Given the description of an element on the screen output the (x, y) to click on. 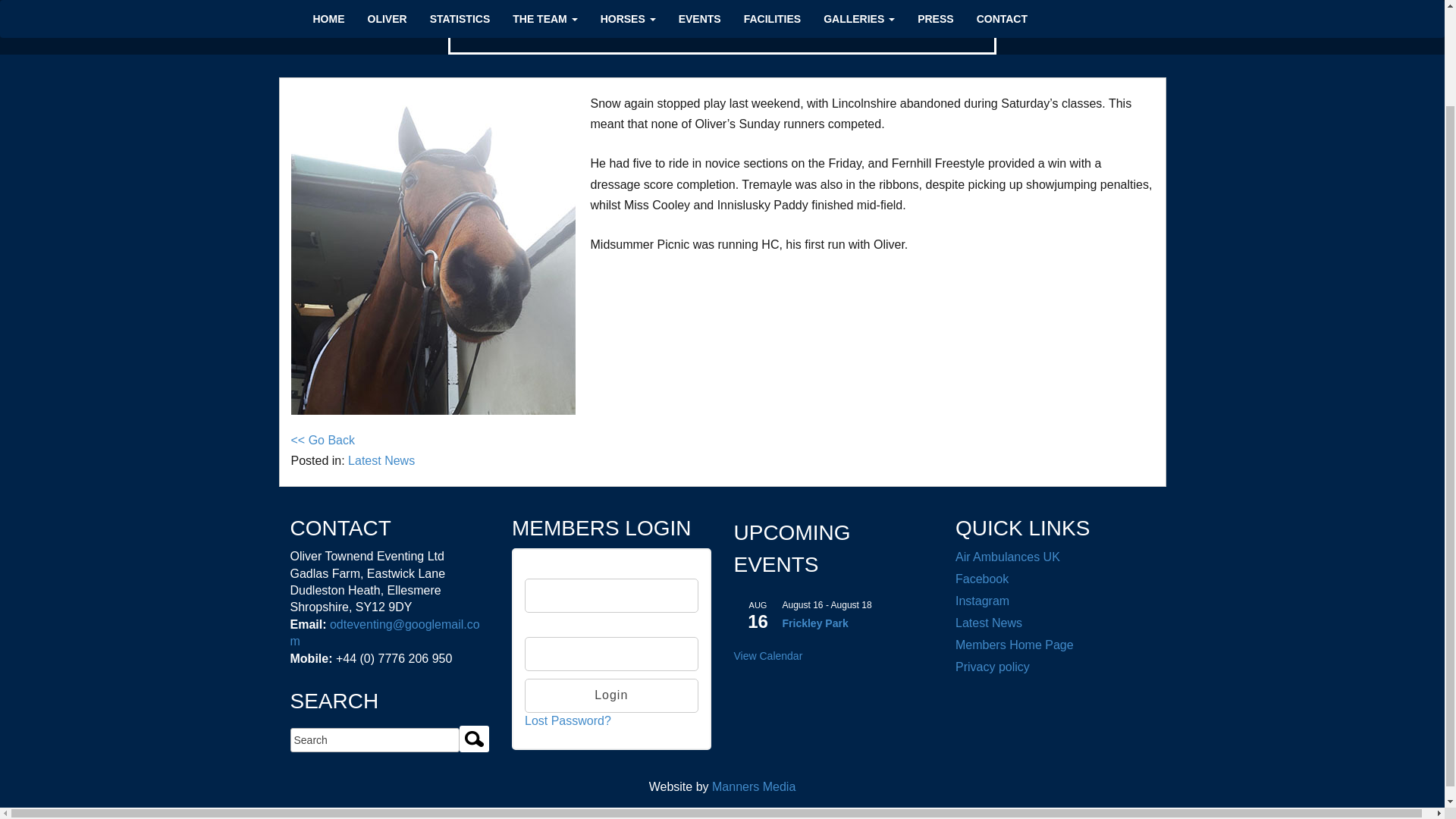
Facebook (982, 578)
Login (611, 695)
Latest News (988, 622)
Login (611, 695)
Manners Media (752, 786)
Lost Password? (567, 720)
Instagram (982, 600)
Privacy policy (992, 666)
Members Home Page (1014, 644)
Latest News (380, 460)
